Given the description of an element on the screen output the (x, y) to click on. 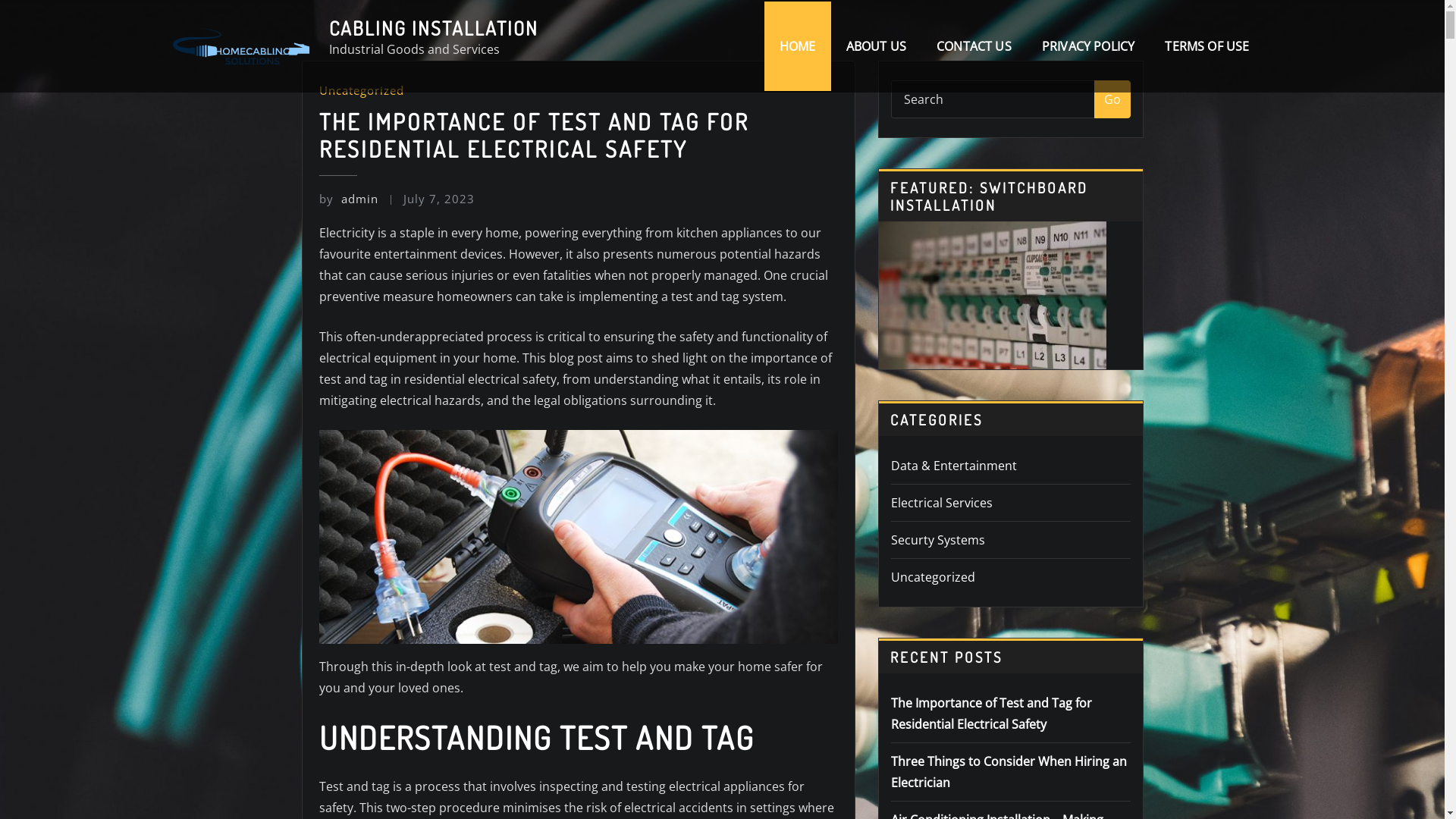
Uncategorized Element type: text (360, 89)
Uncategorized Element type: text (932, 576)
Data & Entertainment Element type: text (953, 465)
HOME Element type: text (797, 46)
Go Element type: text (1111, 99)
by admin Element type: text (347, 198)
PRIVACY POLICY Element type: text (1088, 46)
TERMS OF USE Element type: text (1206, 46)
ABOUT US Element type: text (876, 46)
Securty Systems Element type: text (937, 539)
CONTACT US Element type: text (973, 46)
Three Things to Consider When Hiring an Electrician Element type: text (1008, 771)
Electrical Services Element type: text (940, 502)
July 7, 2023 Element type: text (438, 198)
CABLING INSTALLATION Element type: text (433, 27)
